Given the description of an element on the screen output the (x, y) to click on. 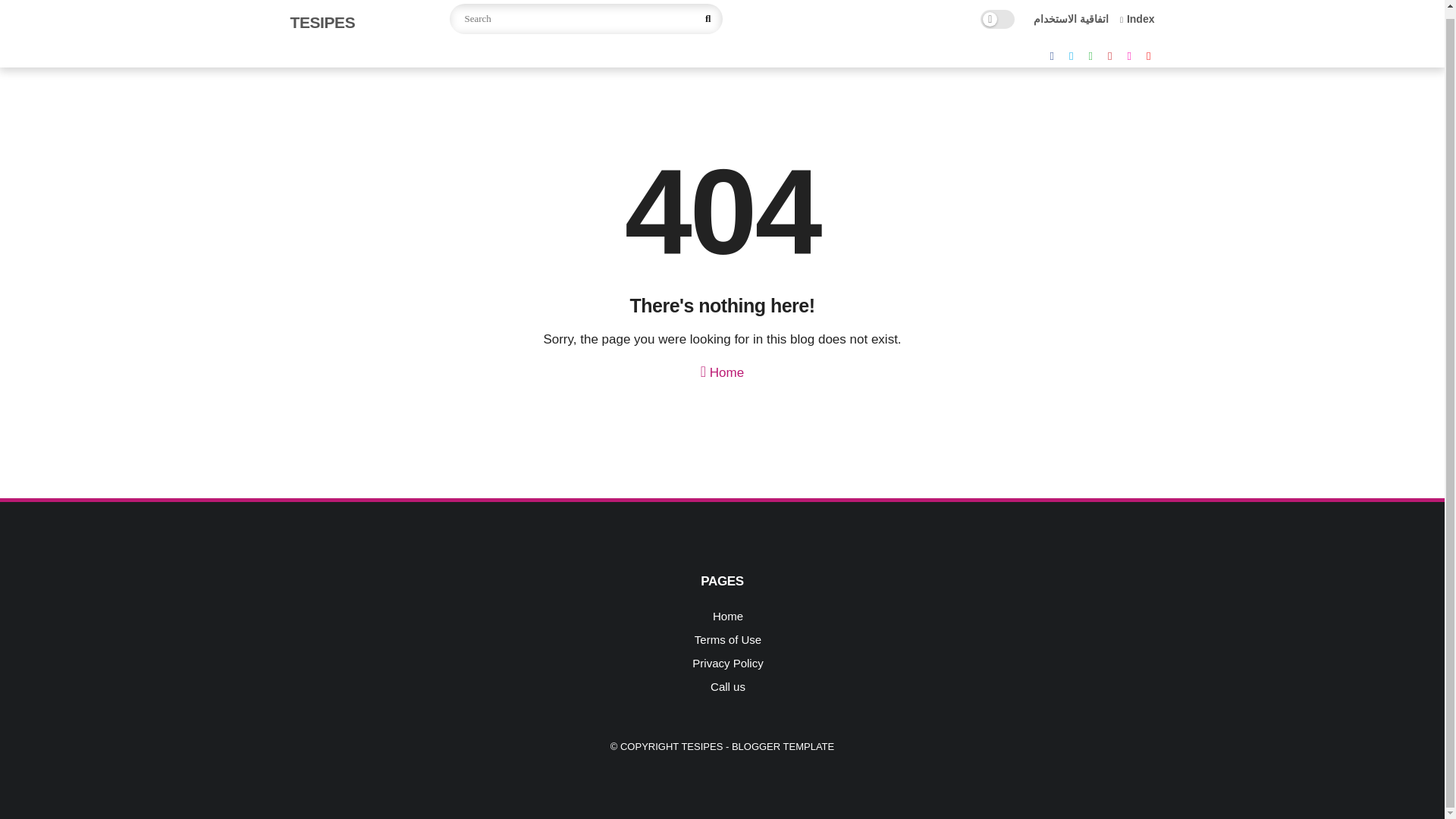
Home (727, 615)
Home (721, 369)
TESIPES (322, 22)
TESIPES (701, 746)
Index (1136, 19)
Call us (727, 686)
Terms of Use (727, 639)
Privacy Policy (727, 662)
